Given the description of an element on the screen output the (x, y) to click on. 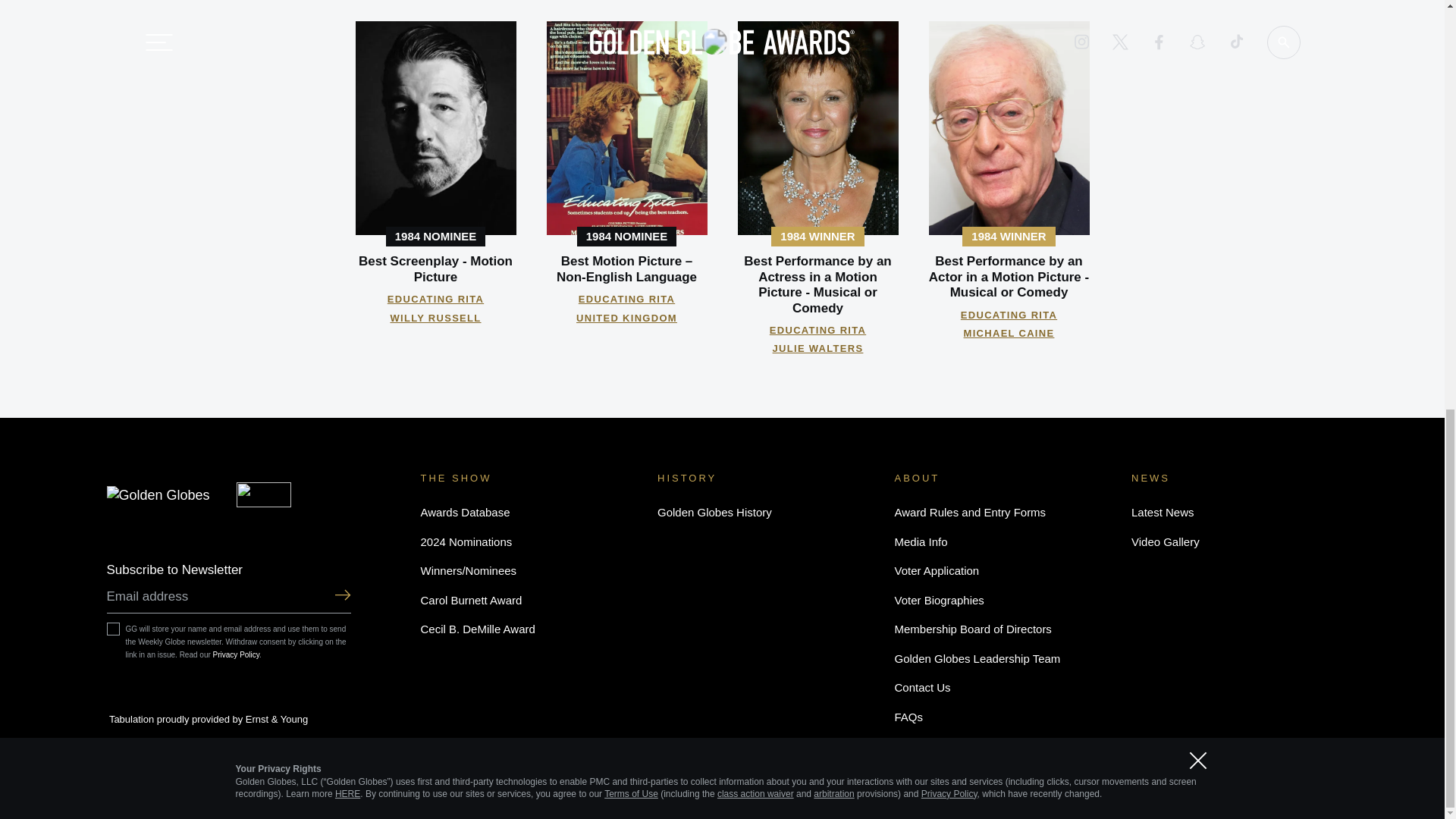
EDUCATING RITA (626, 298)
EDUCATING RITA (818, 329)
WILLY RUSSELL (435, 317)
UNITED KINGDOM (626, 317)
EDUCATING RITA (435, 298)
